Given the description of an element on the screen output the (x, y) to click on. 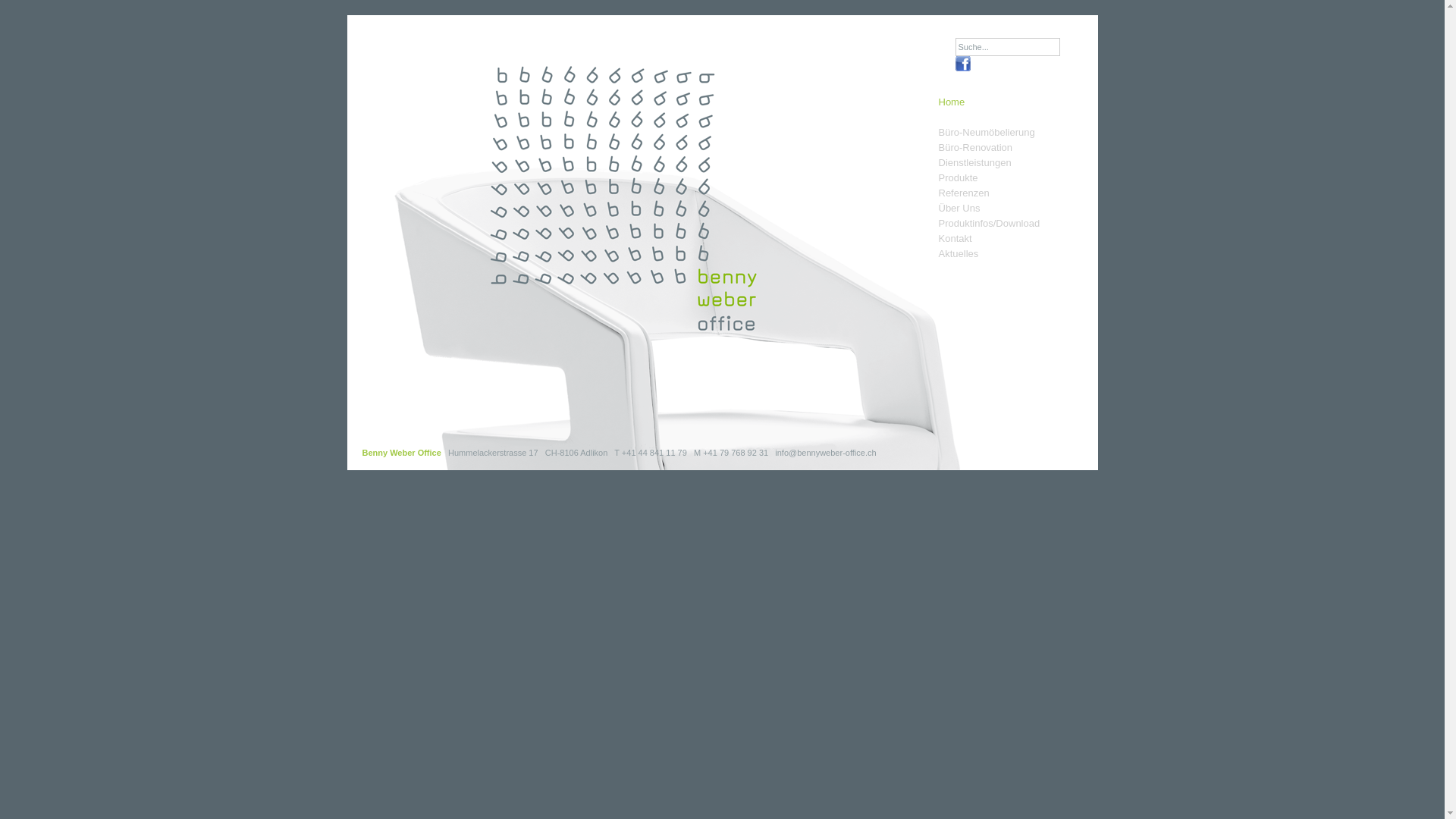
Dienstleistungen Element type: text (974, 162)
Kontakt Element type: text (955, 238)
Home Element type: text (951, 109)
Aktuelles Element type: text (958, 253)
info@bennyweber-office.ch Element type: text (825, 452)
Produktinfos/Download Element type: text (989, 223)
Referenzen Element type: text (963, 192)
Produkte Element type: text (958, 177)
